Given the description of an element on the screen output the (x, y) to click on. 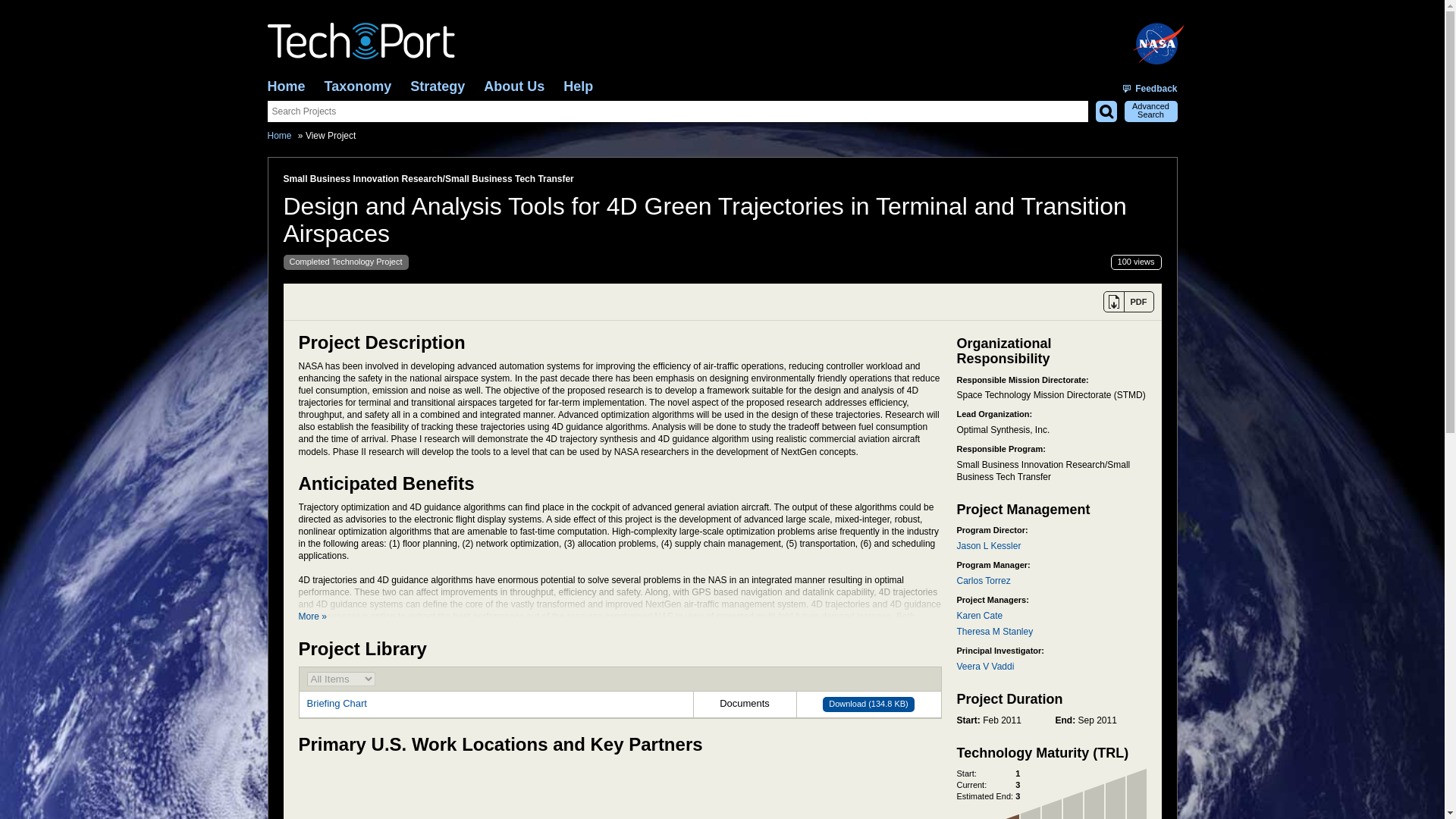
Karen Cate (979, 615)
Home (285, 86)
Browse the NASA Technology Taxonomy (357, 86)
Home (278, 135)
PDF (1127, 301)
Strategy (437, 86)
Browse the NASA Strategic Framework (437, 86)
Advanced Search (1150, 111)
Theresa M Stanley (994, 631)
About Us (513, 86)
Carlos Torrez (983, 580)
Briefing Chart (335, 703)
Chart type not supported. (633, 790)
Taxonomy (357, 86)
